Given the description of an element on the screen output the (x, y) to click on. 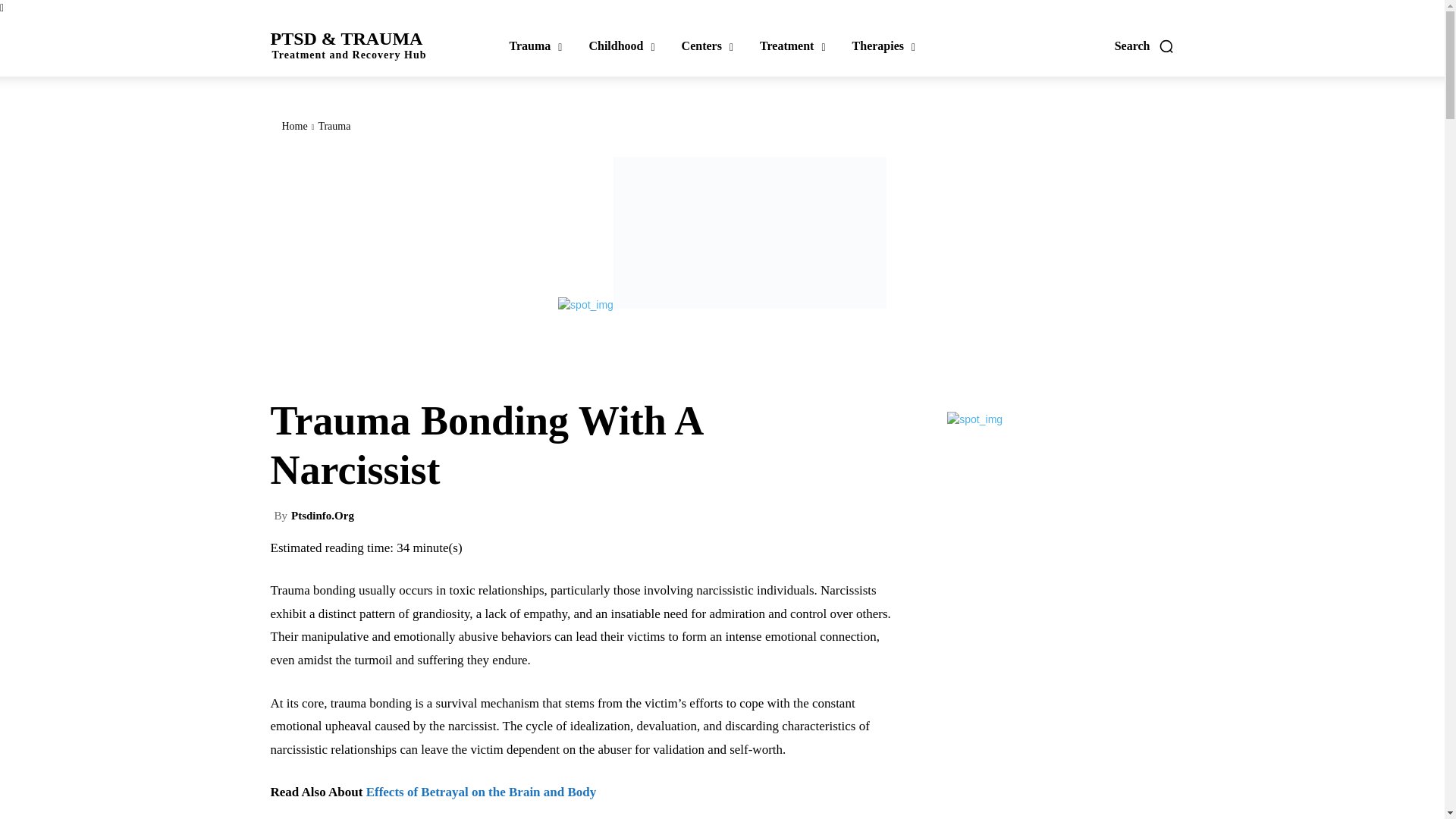
Search (1144, 45)
Trauma (535, 45)
Childhood (621, 45)
